Given the description of an element on the screen output the (x, y) to click on. 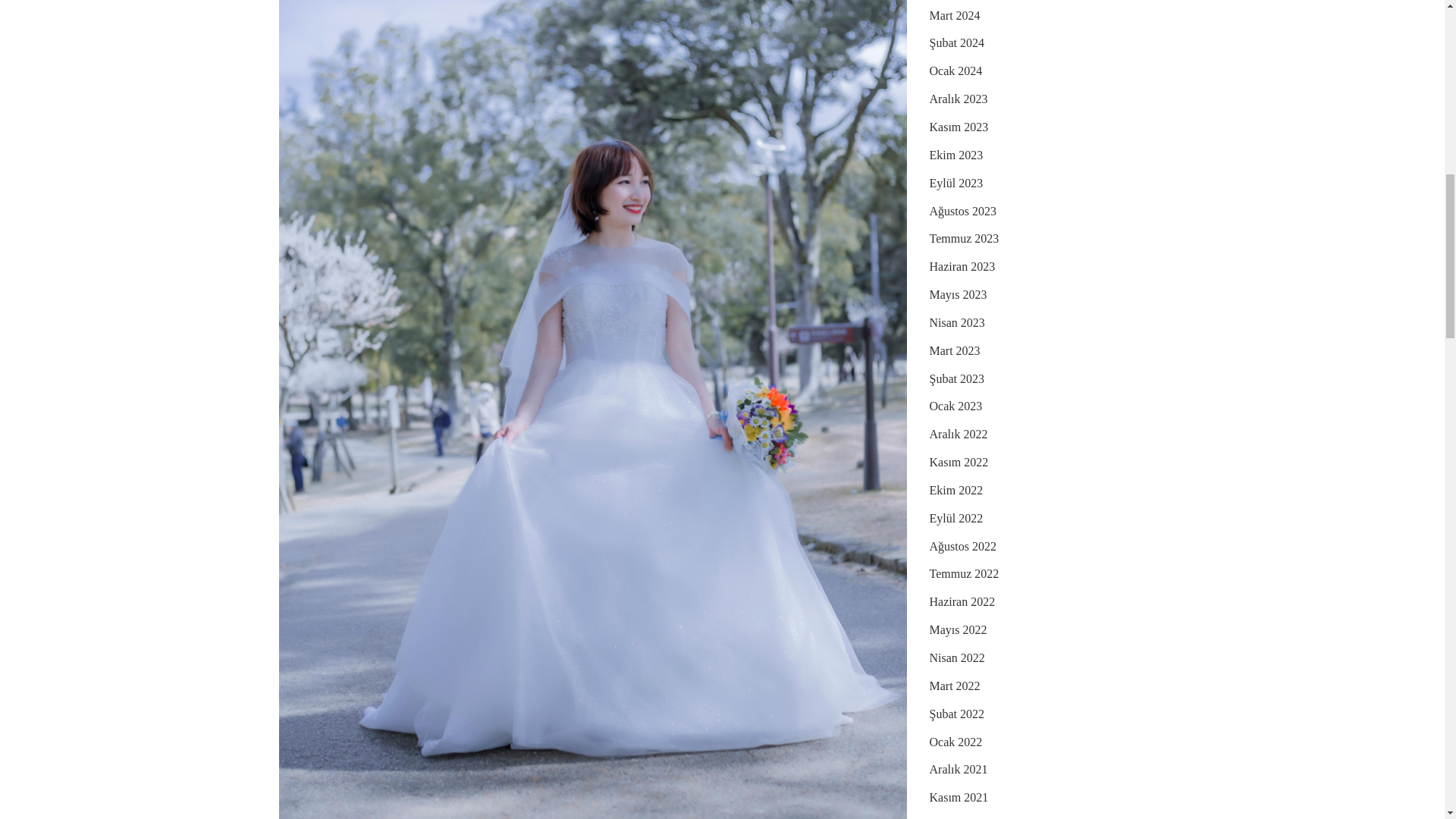
Haziran 2023 (962, 267)
Ekim 2023 (957, 155)
Ocak 2024 (956, 71)
Temmuz 2023 (964, 239)
Mart 2024 (954, 16)
